Given the description of an element on the screen output the (x, y) to click on. 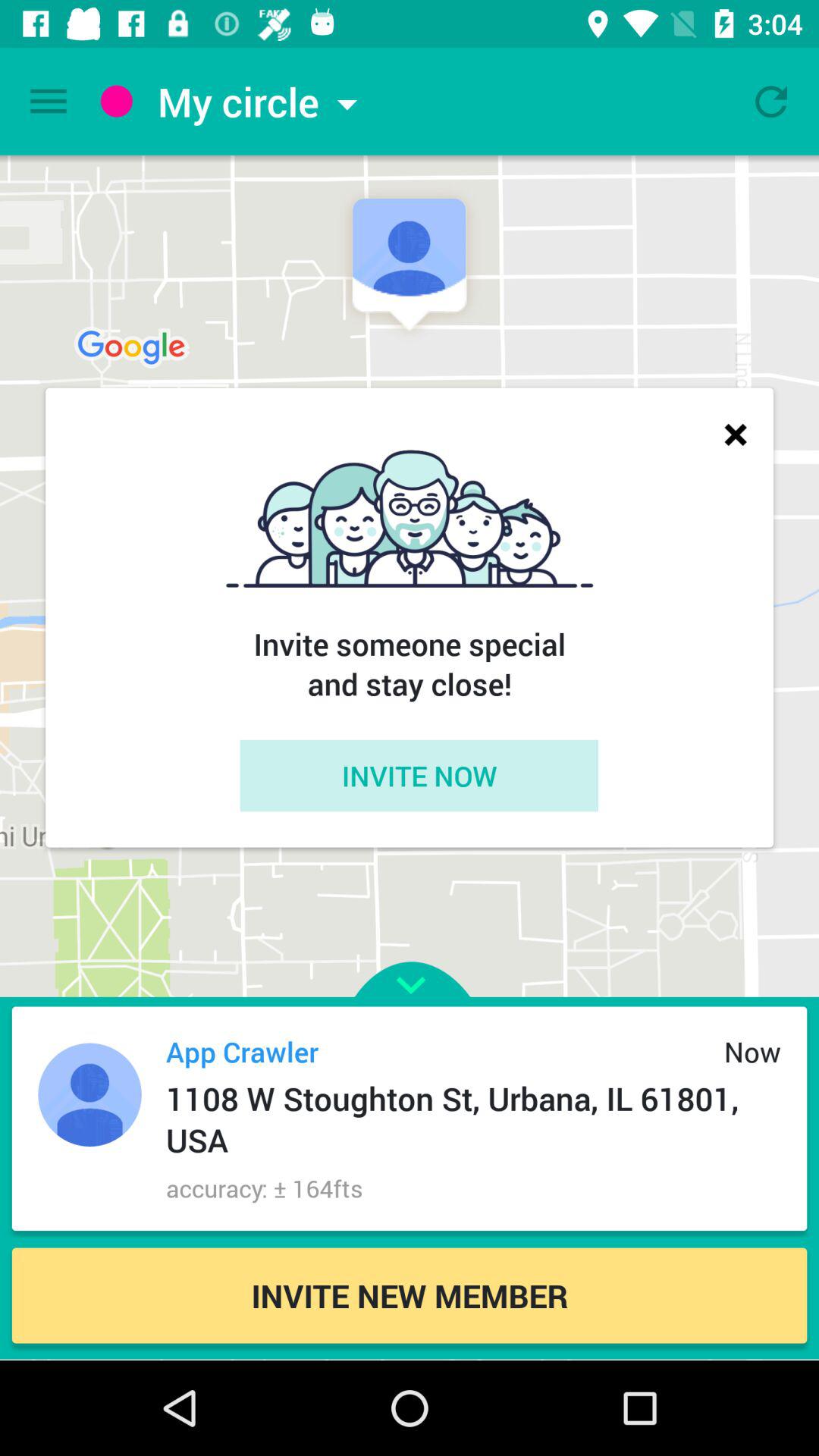
tap the invite now (419, 775)
